Given the description of an element on the screen output the (x, y) to click on. 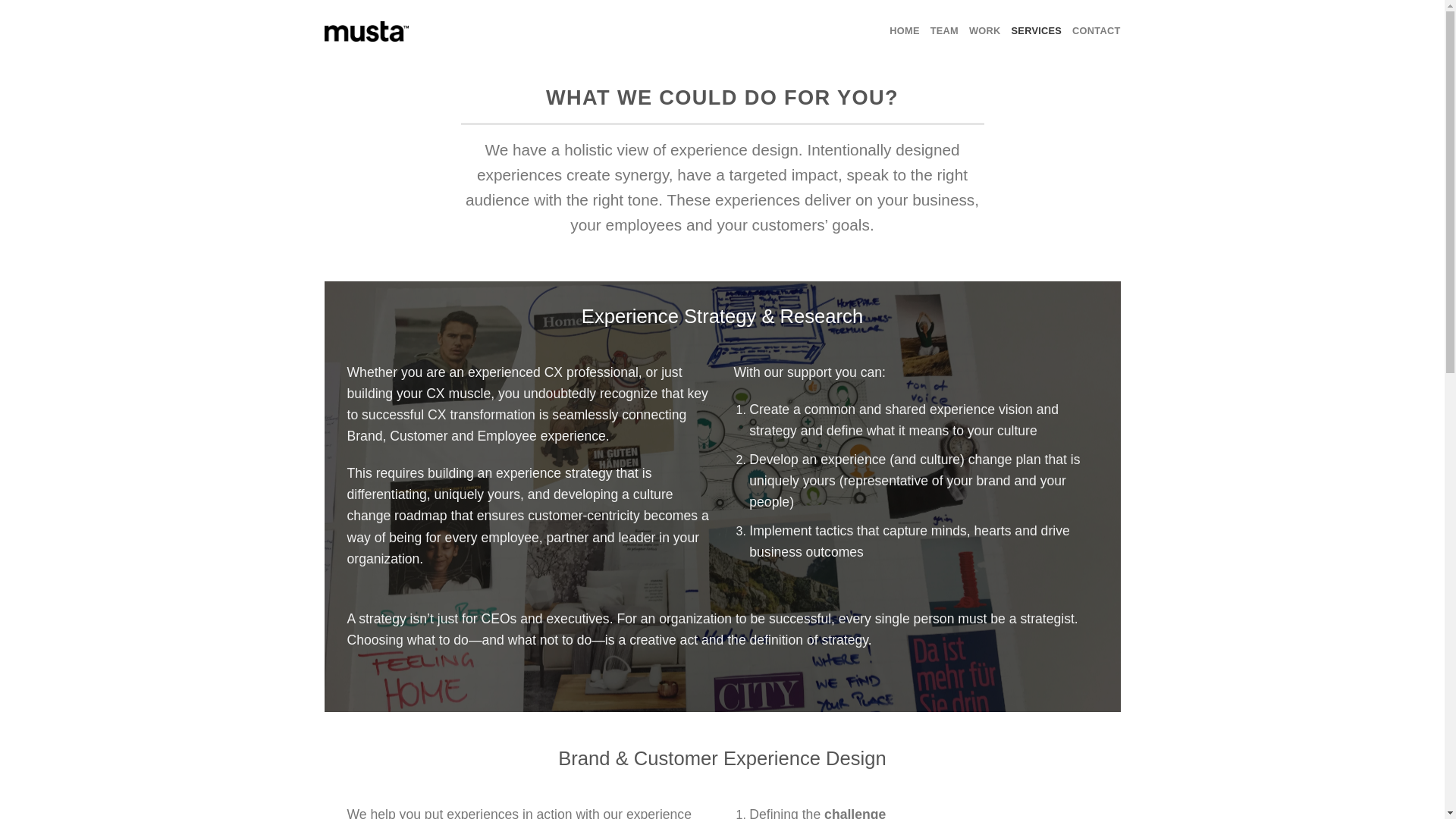
CONTACT (1095, 30)
WORK (985, 30)
HOME (903, 30)
TEAM (944, 30)
SERVICES (1036, 30)
Musta - Experience (366, 31)
